Given the description of an element on the screen output the (x, y) to click on. 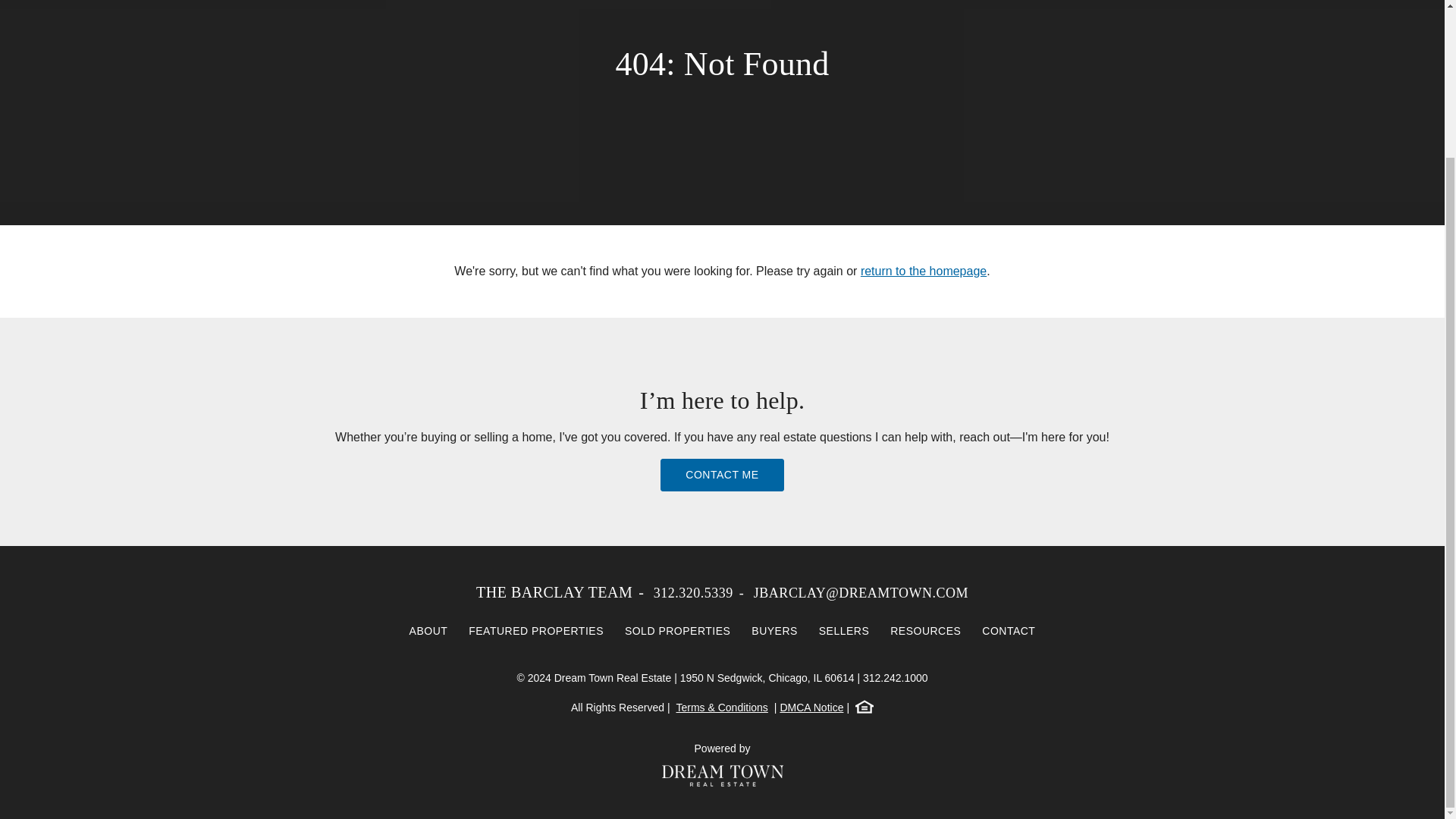
FEATURED PROPERTIES (536, 630)
Dream Town Real Estate (722, 774)
312.242.1000 (895, 677)
SELLERS (844, 630)
RESOURCES (924, 630)
SOLD PROPERTIES (677, 630)
return to the homepage (923, 270)
BUYERS (774, 630)
CONTACT ME (722, 474)
312.320.5339 (693, 592)
